Given the description of an element on the screen output the (x, y) to click on. 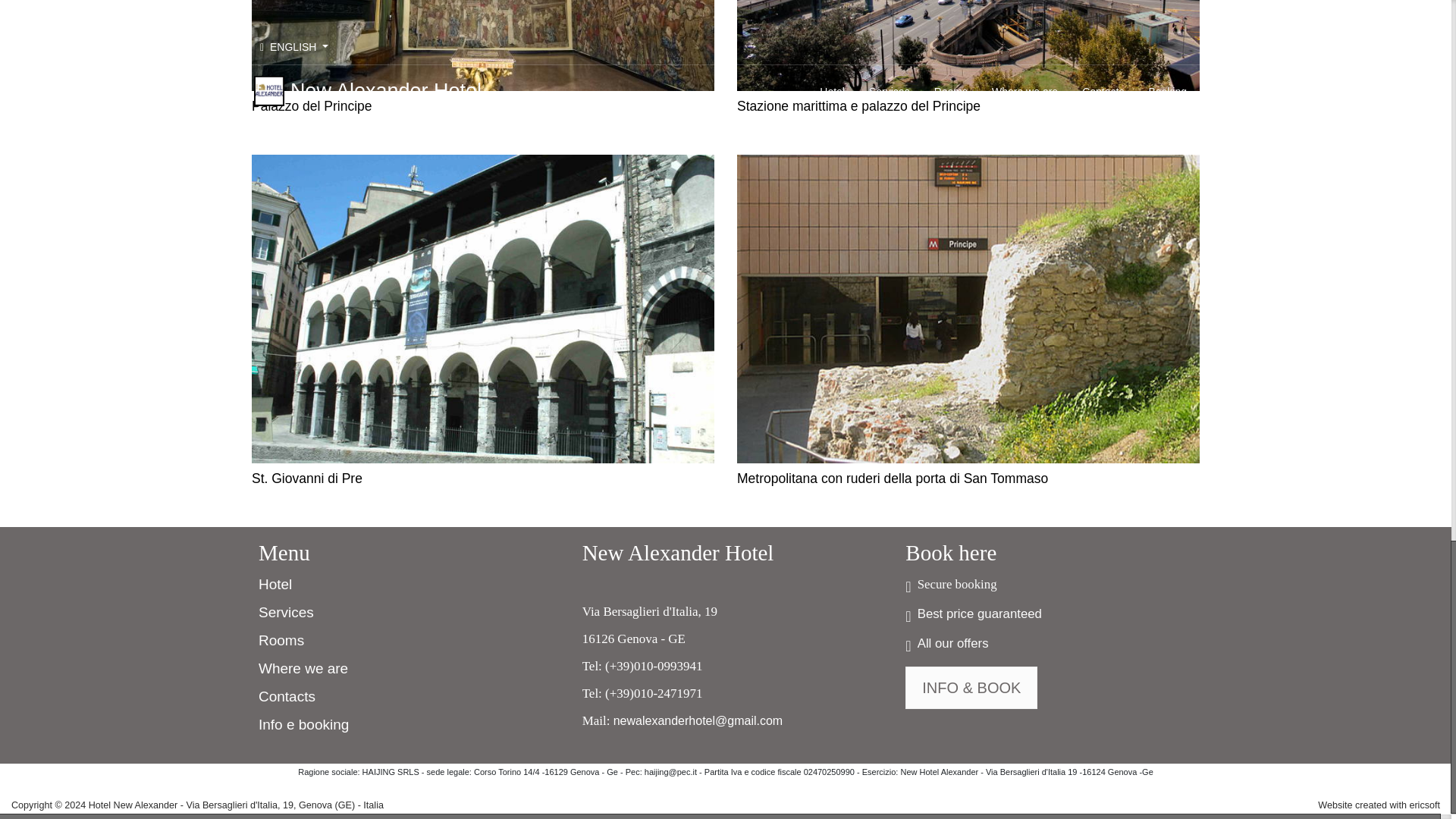
Rooms (281, 641)
Where we are (303, 669)
vices (297, 613)
Contacts (287, 697)
Palazzo del Principe (482, 45)
Hotel (275, 585)
nfo e booking (305, 725)
Ser (270, 611)
la stazione marittima (967, 45)
